Given the description of an element on the screen output the (x, y) to click on. 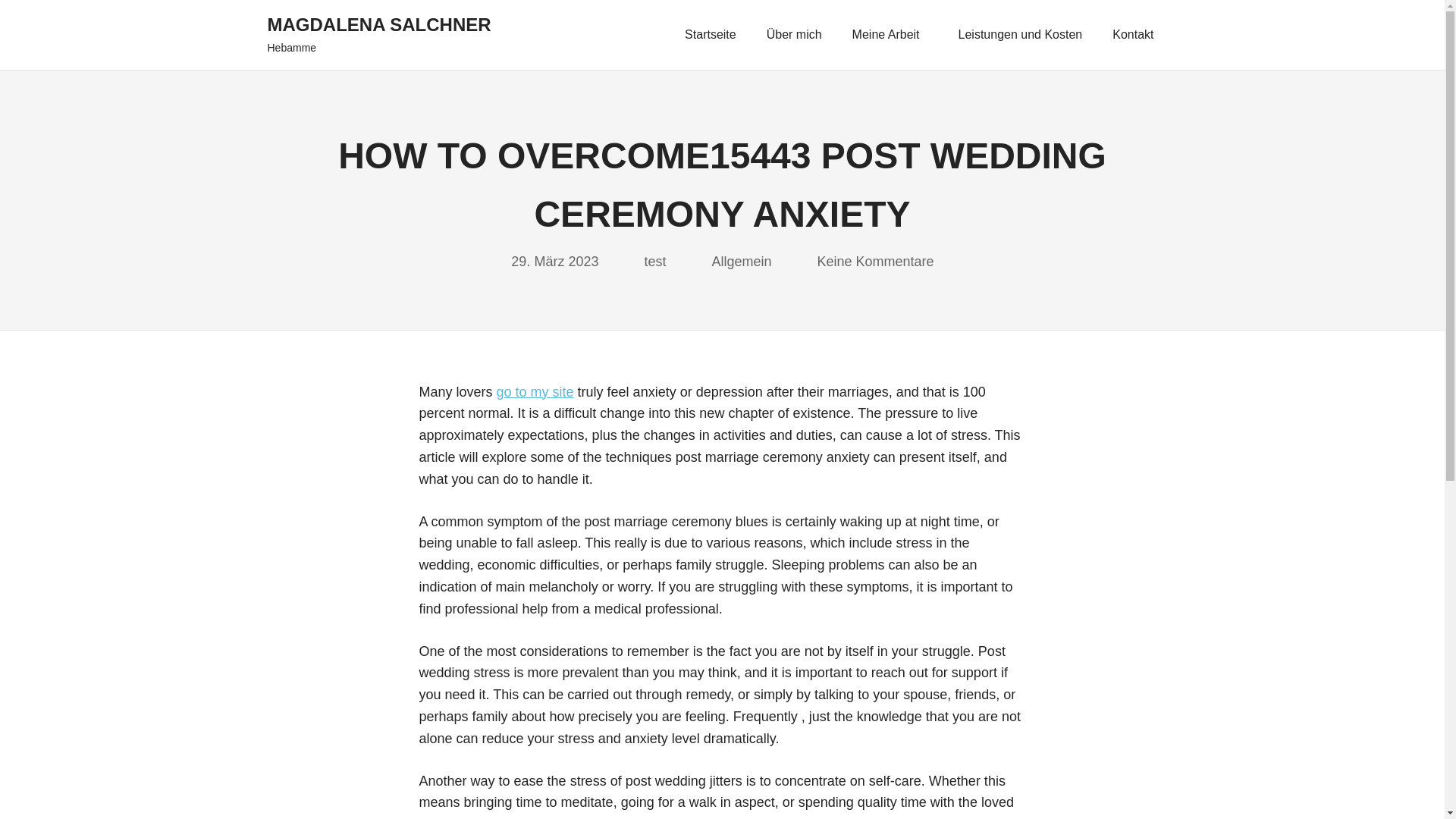
MAGDALENA SALCHNER (378, 24)
Allgemein (741, 261)
test (654, 261)
Keine Kommentare (875, 261)
Leistungen und Kosten (1020, 34)
Kontakt (1136, 34)
Startseite (710, 34)
2:00 (554, 261)
Meine Arbeit (890, 34)
go to my site (534, 391)
